Given the description of an element on the screen output the (x, y) to click on. 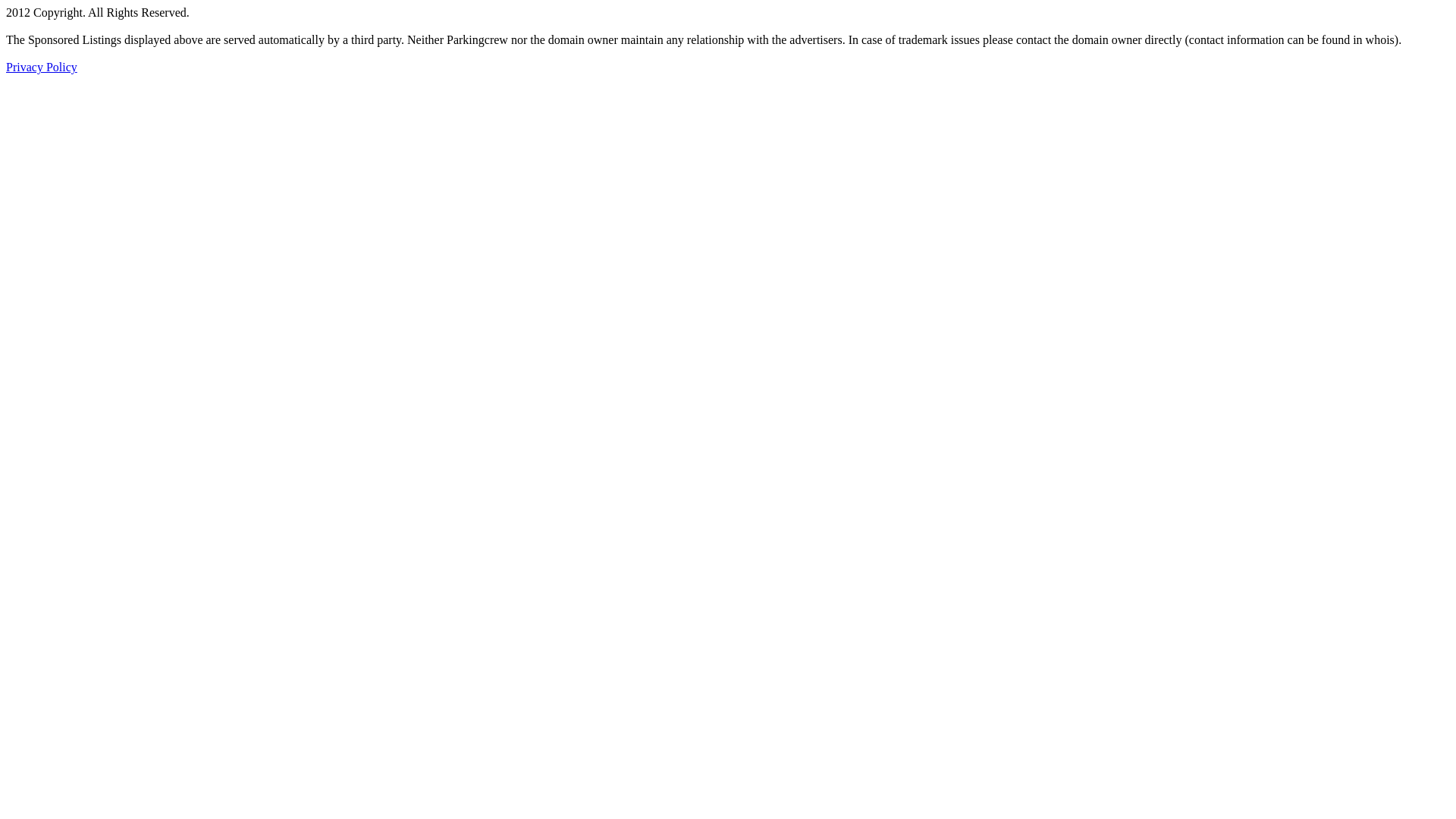
Privacy Policy Element type: text (41, 66)
